Given the description of an element on the screen output the (x, y) to click on. 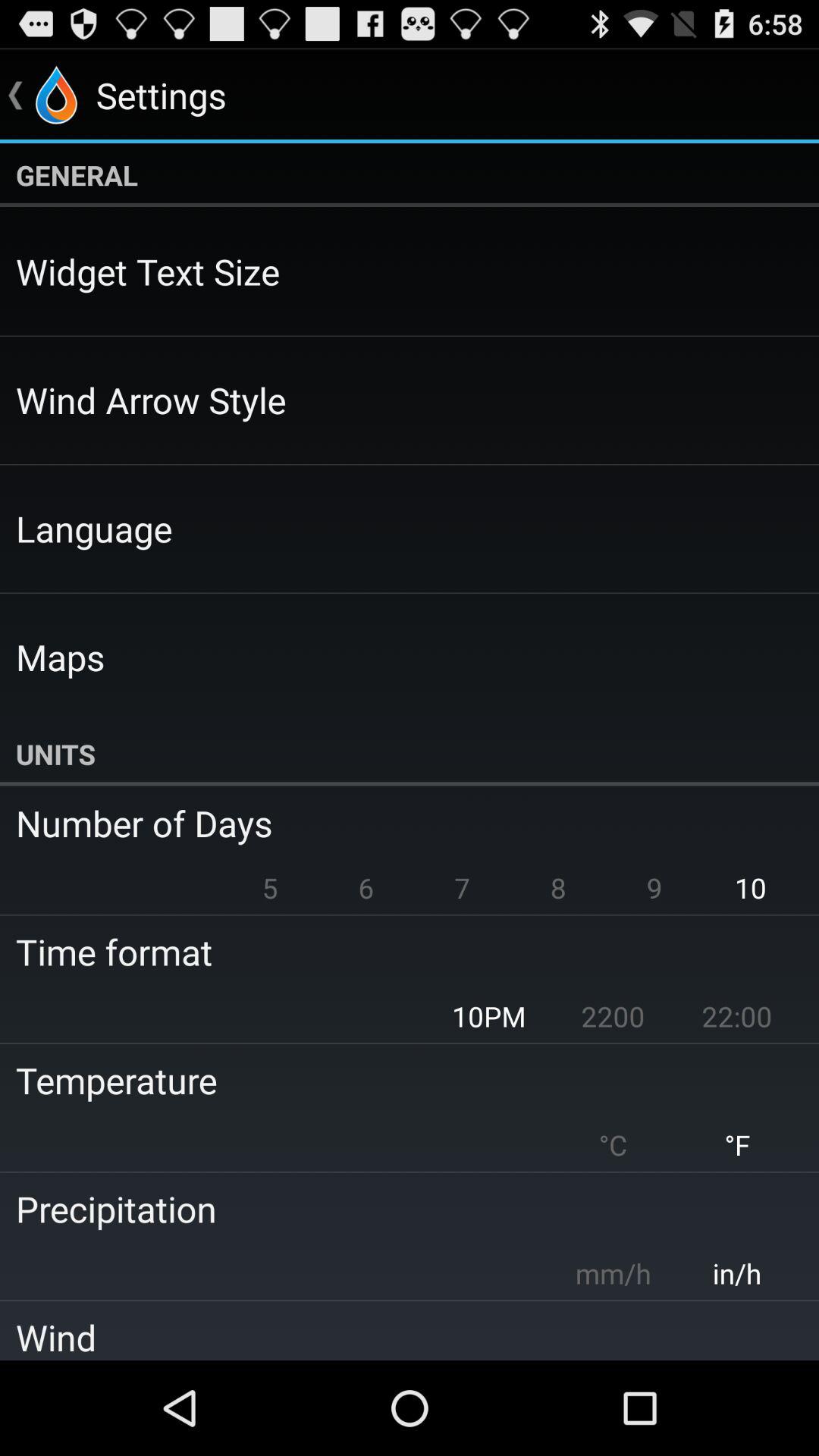
open item to the left of 9 item (558, 887)
